Given the description of an element on the screen output the (x, y) to click on. 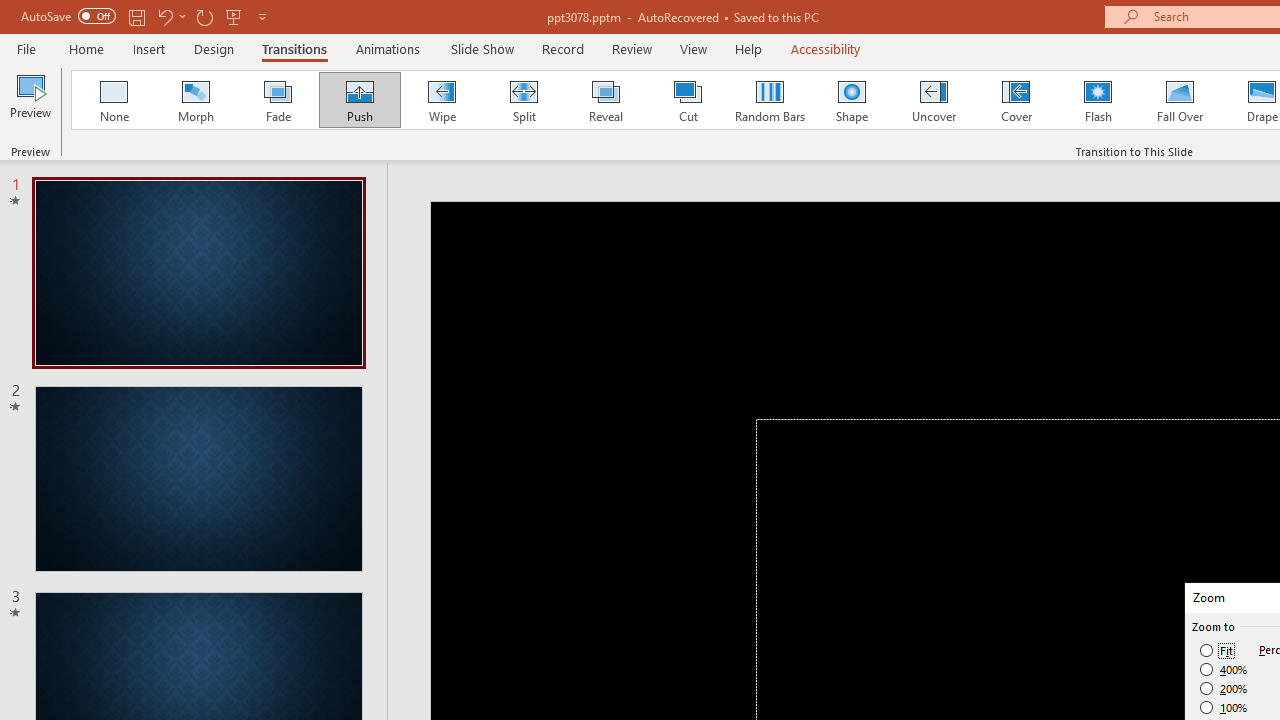
400% (1224, 669)
Push (359, 100)
100% (1224, 707)
Cover (1016, 100)
Fit (1217, 650)
